Given the description of an element on the screen output the (x, y) to click on. 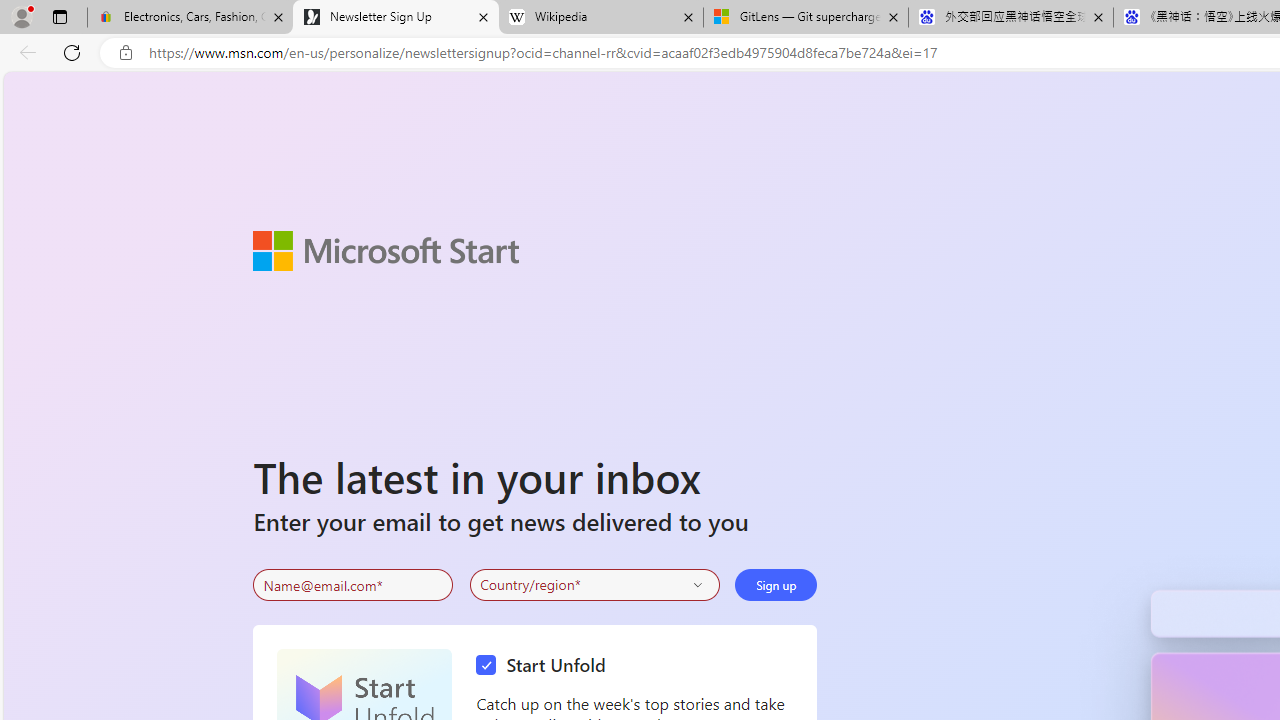
Wikipedia (600, 17)
Enter your email (353, 585)
Sign up (775, 584)
Select your country (594, 584)
Newsletter Sign Up (395, 17)
Start Unfold (545, 665)
